Given the description of an element on the screen output the (x, y) to click on. 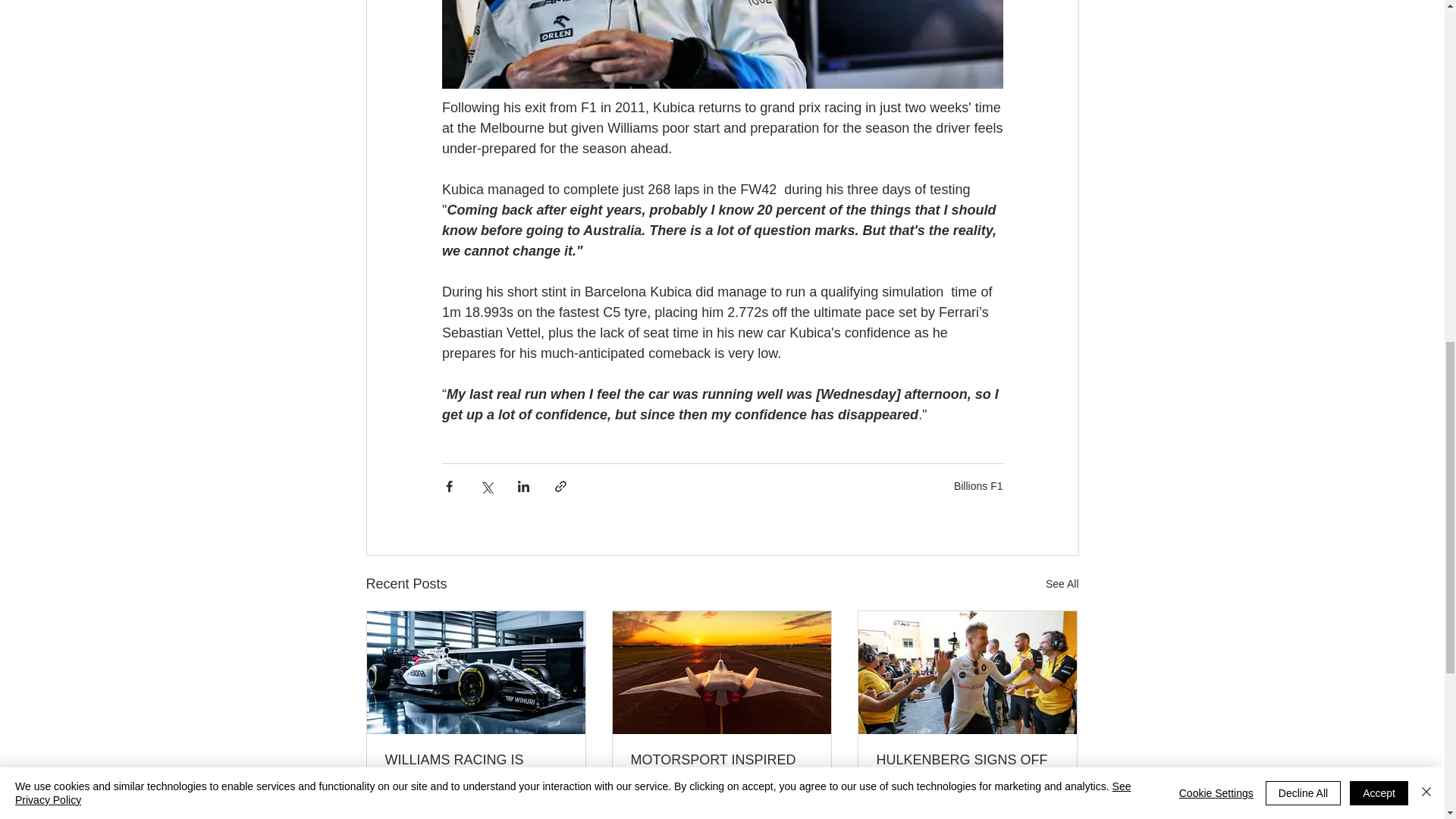
HULKENBERG SIGNS OFF IN ABU DHABI (967, 767)
WILLIAMS RACING IS ACQUIRED BY DORILTON CAPITAL (476, 767)
See All (1061, 584)
Billions F1 (978, 485)
